Given the description of an element on the screen output the (x, y) to click on. 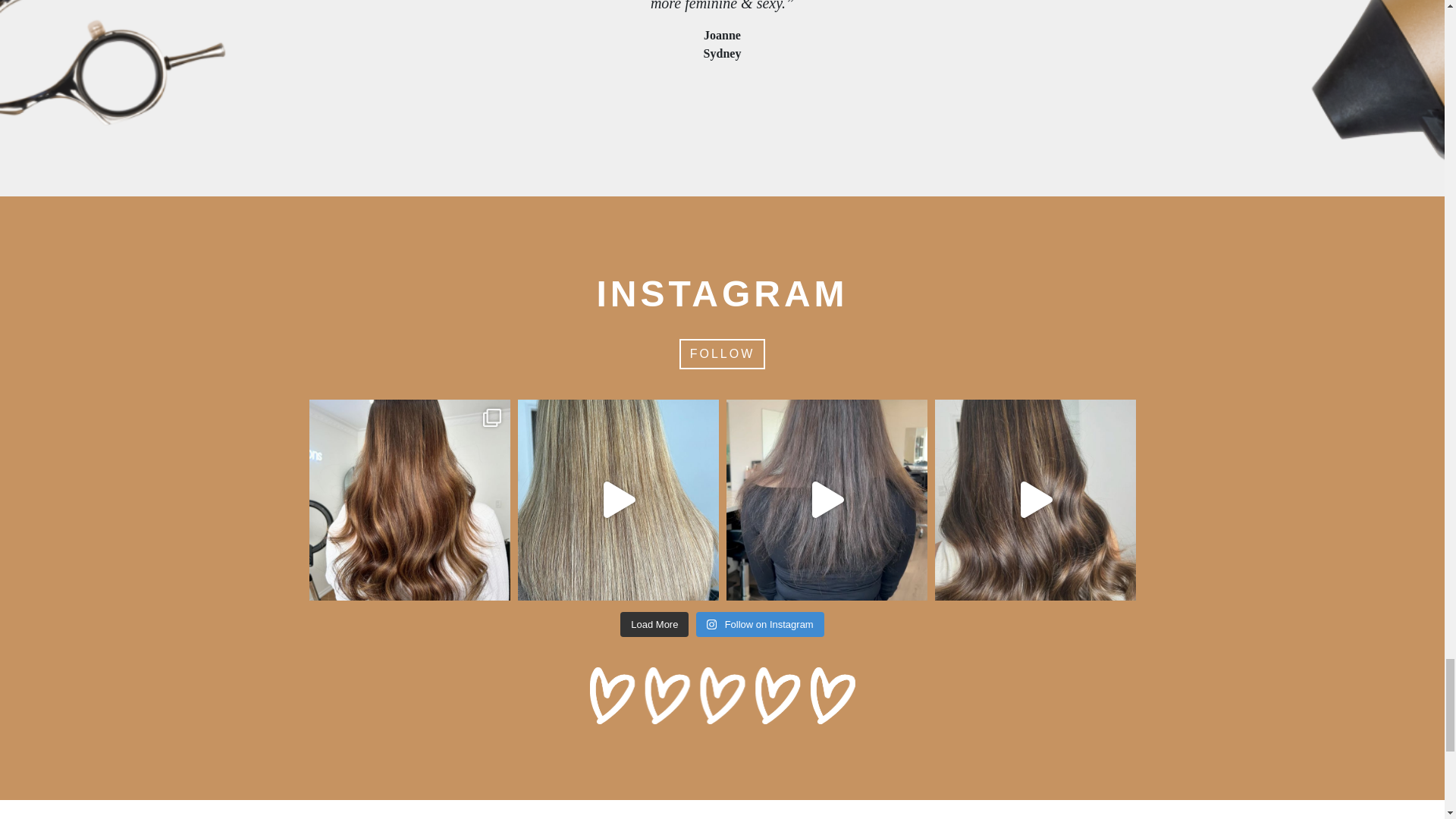
Load More (654, 624)
FOLLOW (722, 354)
Follow on Instagram (759, 624)
